Given the description of an element on the screen output the (x, y) to click on. 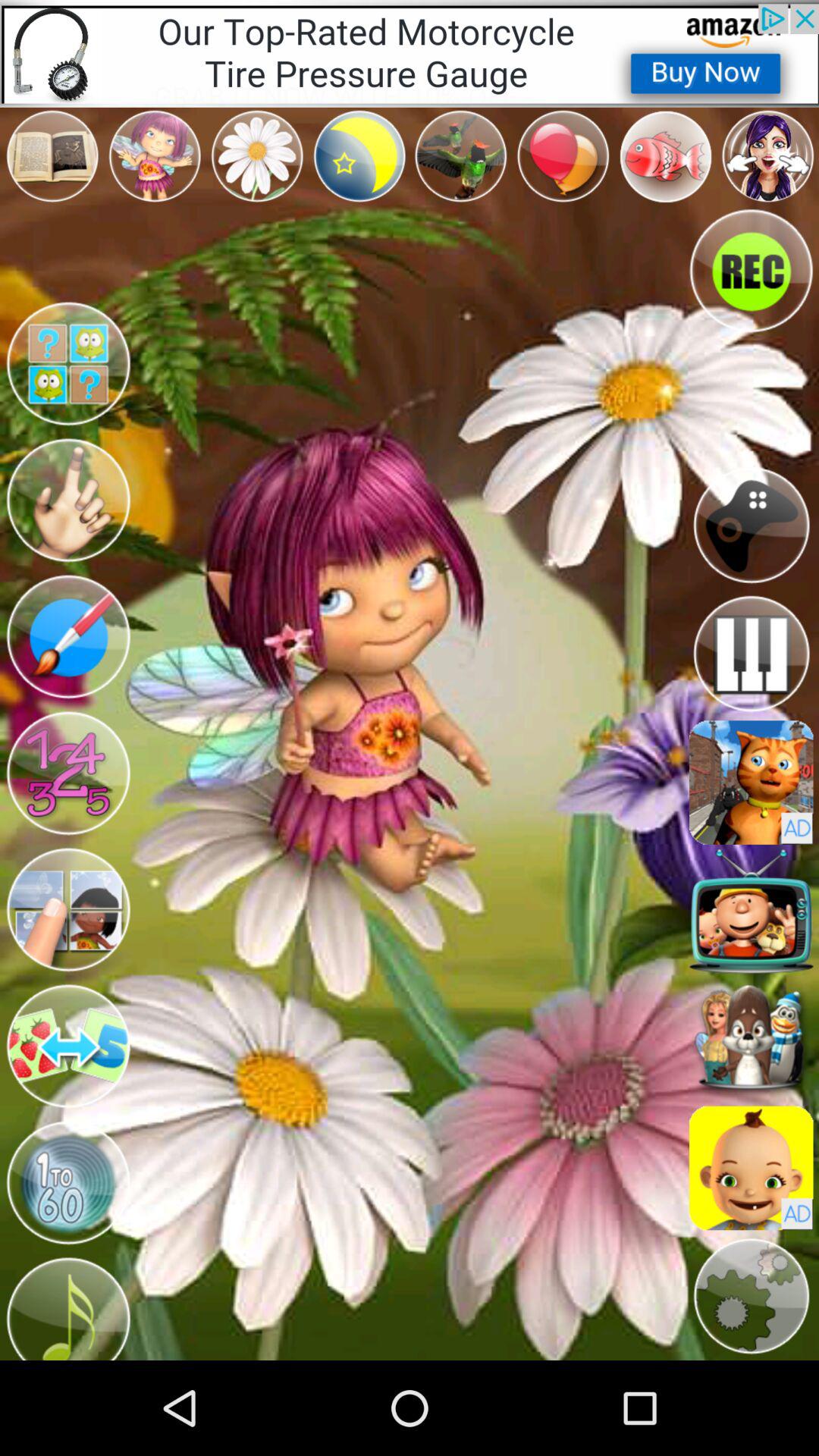
toggle help option (68, 363)
